Given the description of an element on the screen output the (x, y) to click on. 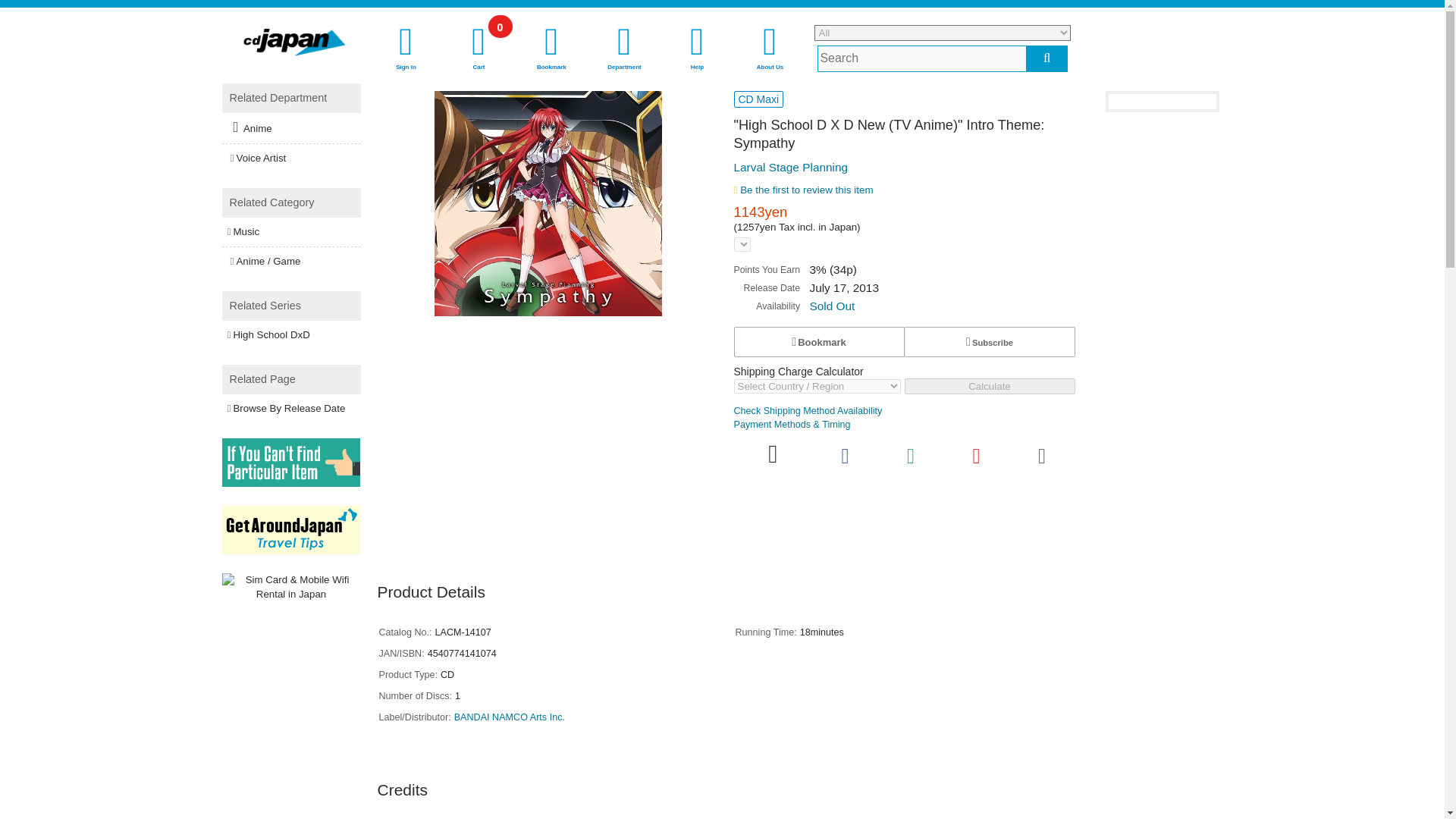
Sign In (405, 48)
Department (624, 48)
Sold Out (831, 305)
Calculate (989, 385)
Larval Stage Planning (790, 166)
Help (697, 48)
Bookmark (478, 48)
Check Shipping Method Availability (818, 341)
Be the first to review this item (807, 410)
